Given the description of an element on the screen output the (x, y) to click on. 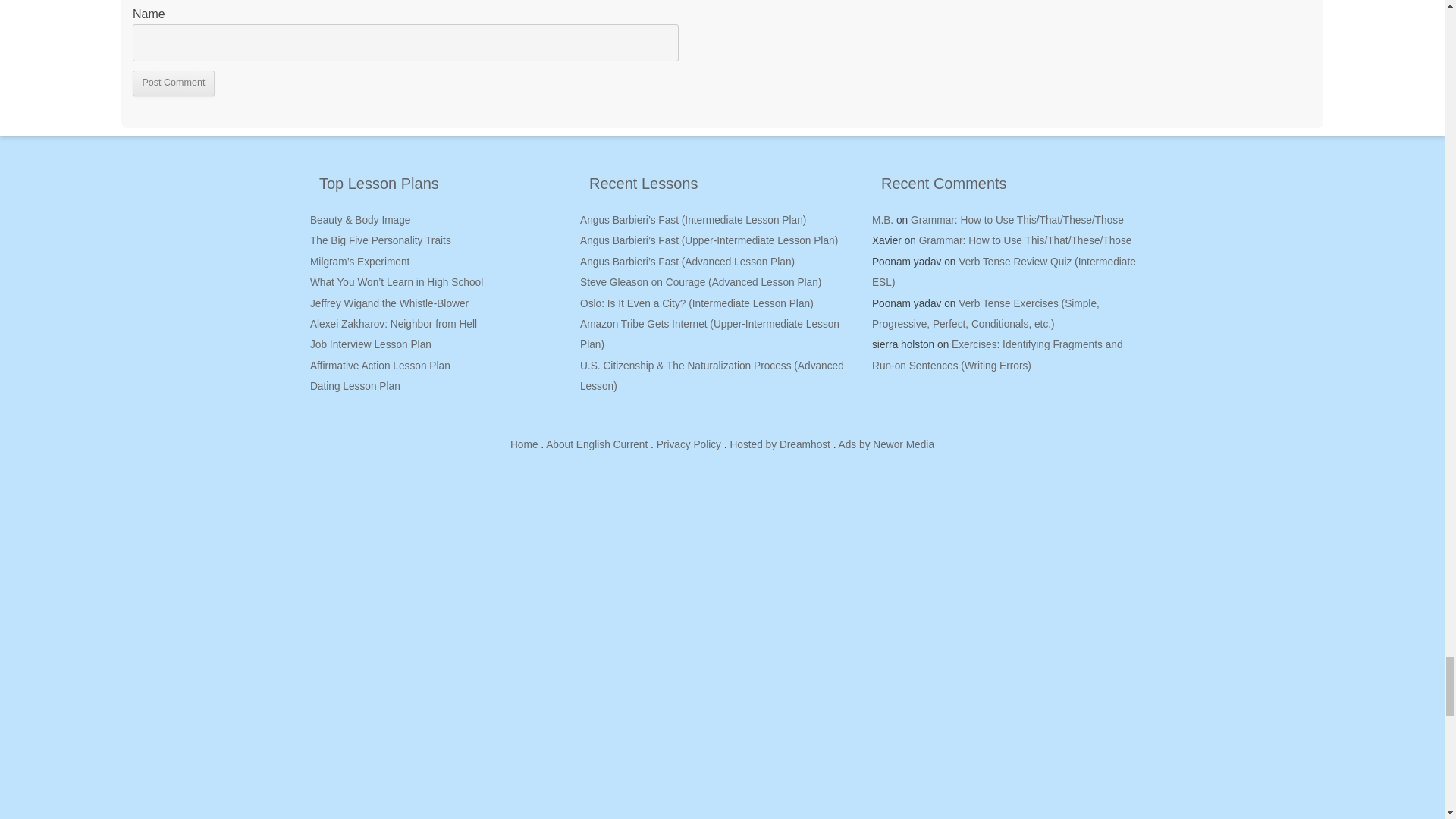
Post Comment (173, 83)
